Given the description of an element on the screen output the (x, y) to click on. 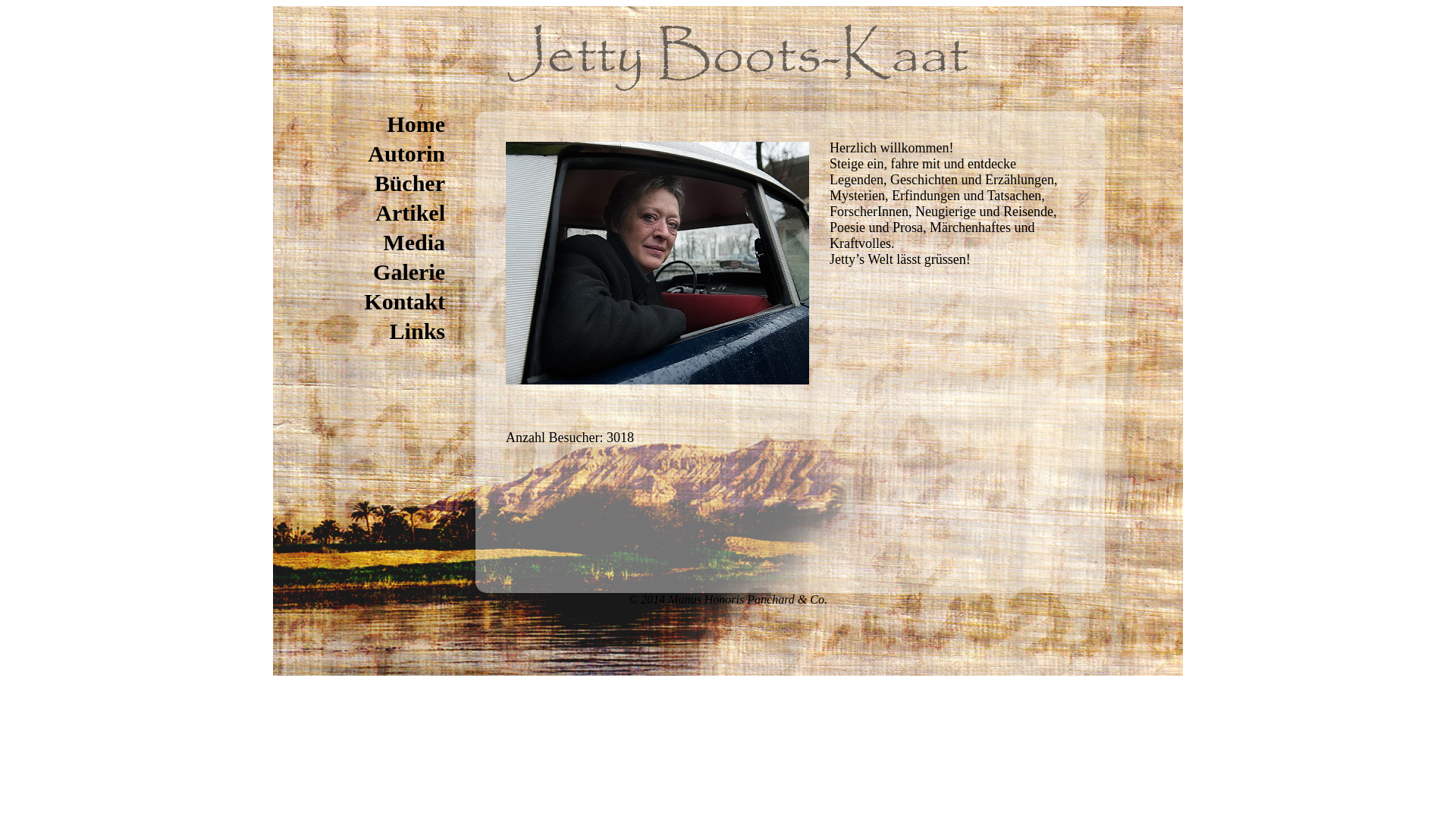
Media Element type: text (413, 241)
Home Element type: text (415, 123)
Links Element type: text (417, 330)
Kontakt Element type: text (404, 300)
3018 Element type: text (619, 437)
Artikel Element type: text (410, 212)
Autorin Element type: text (406, 153)
Galerie Element type: text (409, 271)
